Given the description of an element on the screen output the (x, y) to click on. 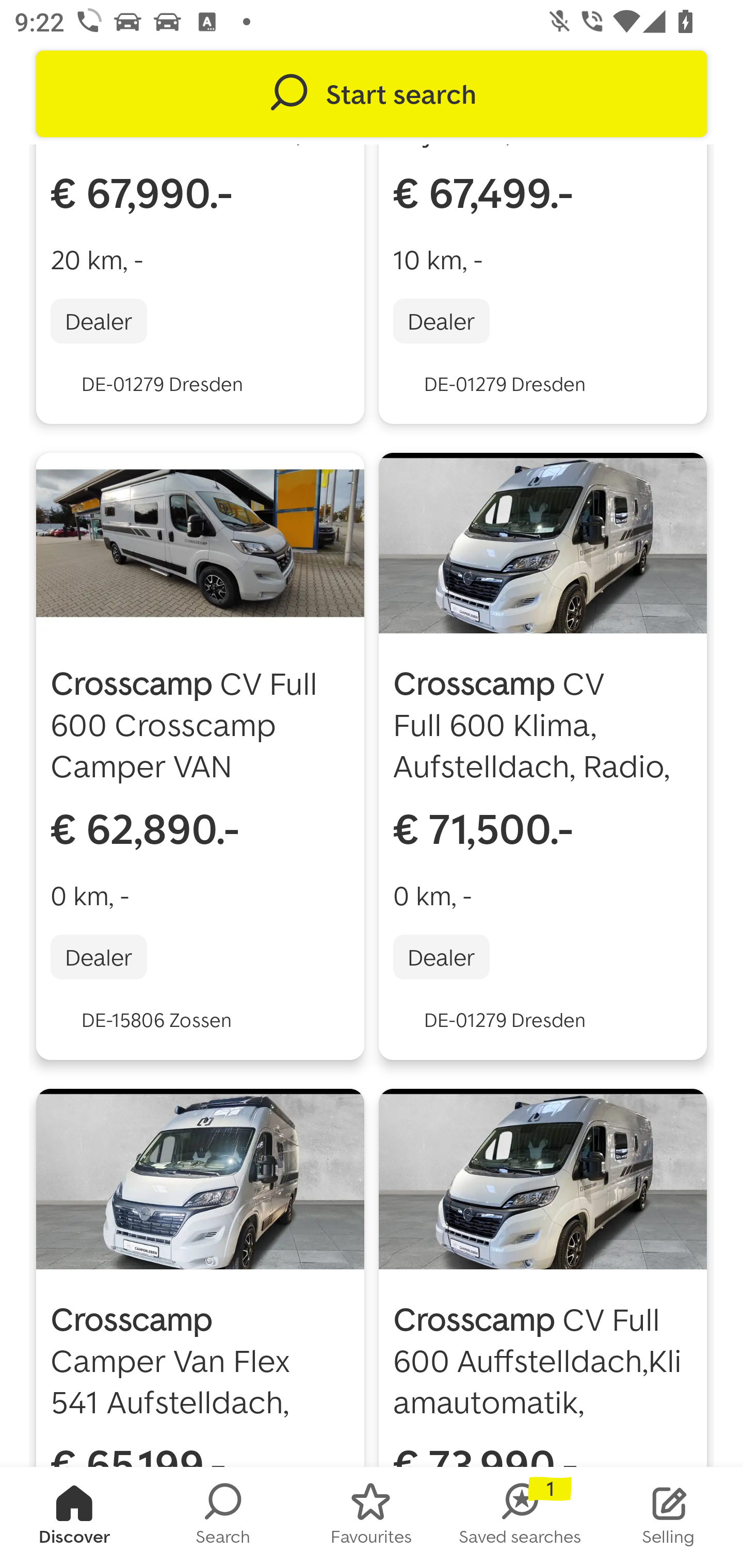
Start search (371, 93)
HOMESCREEN Discover (74, 1517)
SEARCH Search (222, 1517)
FAVORITES Favourites (371, 1517)
SAVED_SEARCHES Saved searches 1 (519, 1517)
STOCK_LIST Selling (668, 1517)
